Given the description of an element on the screen output the (x, y) to click on. 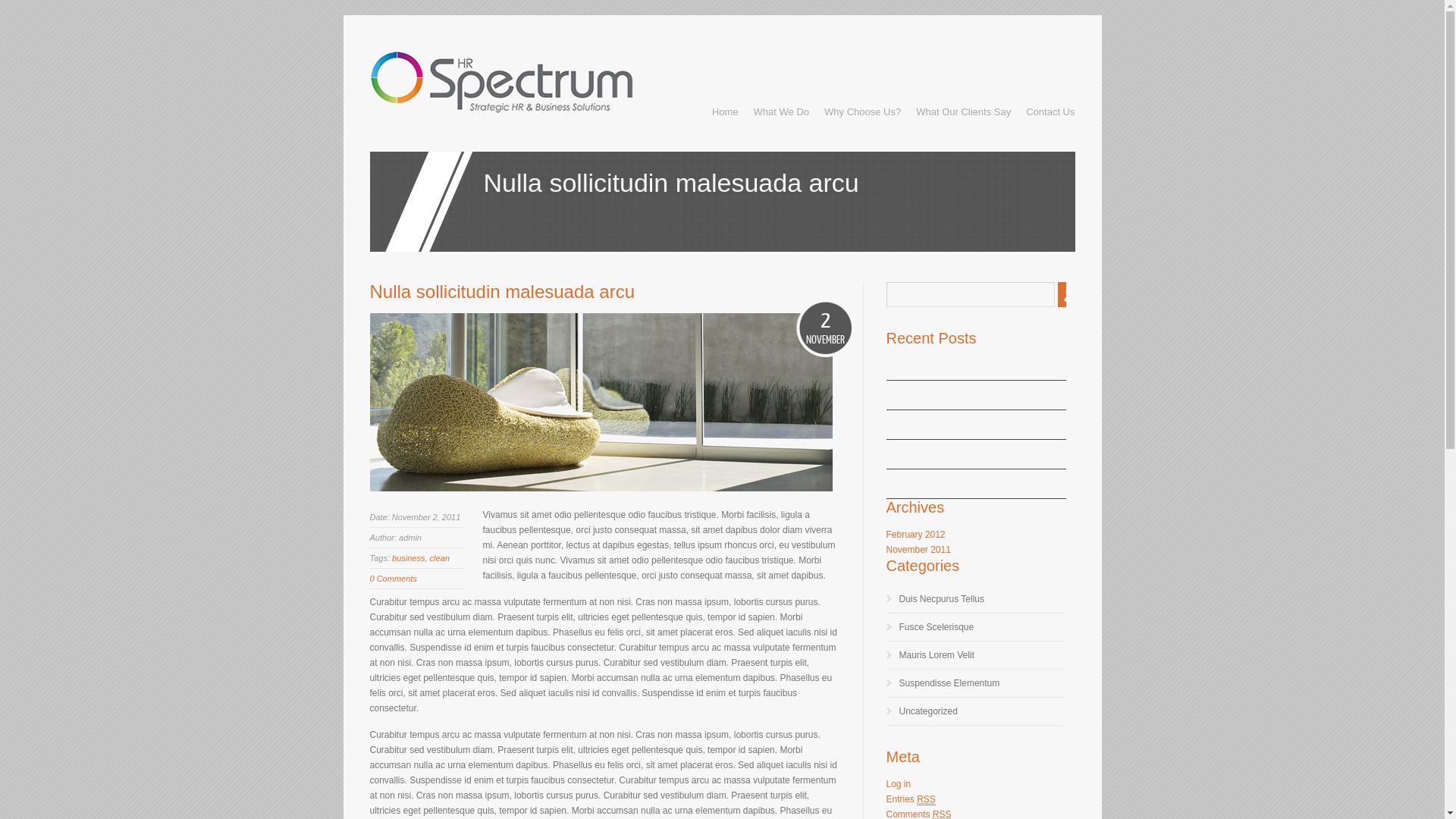
submit Element type: text (1069, 294)
Hello world! Element type: text (909, 365)
Home Element type: text (725, 111)
What Our Clients Say Element type: text (963, 111)
Why Choose Us? Element type: text (862, 111)
clean Element type: text (439, 557)
Entries RSS Element type: text (910, 799)
November 2011 Element type: text (917, 549)
business Element type: text (408, 557)
What We Do Element type: text (781, 111)
Nulla sollicitudin malesuada arcu Element type: text (951, 483)
February 2012 Element type: text (914, 534)
Maecenas vitae ante leo eu lacininulla Element type: text (962, 394)
Fusce Scelerisque Element type: text (936, 626)
Uncategorized Element type: text (928, 711)
Pellentesque dui massa scelerisque Element type: text (957, 453)
Nulla sollicitudin malesuada arcu Element type: text (502, 291)
Mauris sit amet metus eget dolor Element type: text (951, 424)
Mauris Lorem Velit Element type: text (936, 654)
Contact Us Element type: text (1050, 111)
Log in Element type: text (897, 783)
0 Comments Element type: text (393, 578)
Duis Necpurus Tellus Element type: text (942, 598)
Suspendisse Elementum Element type: text (949, 682)
